Given the description of an element on the screen output the (x, y) to click on. 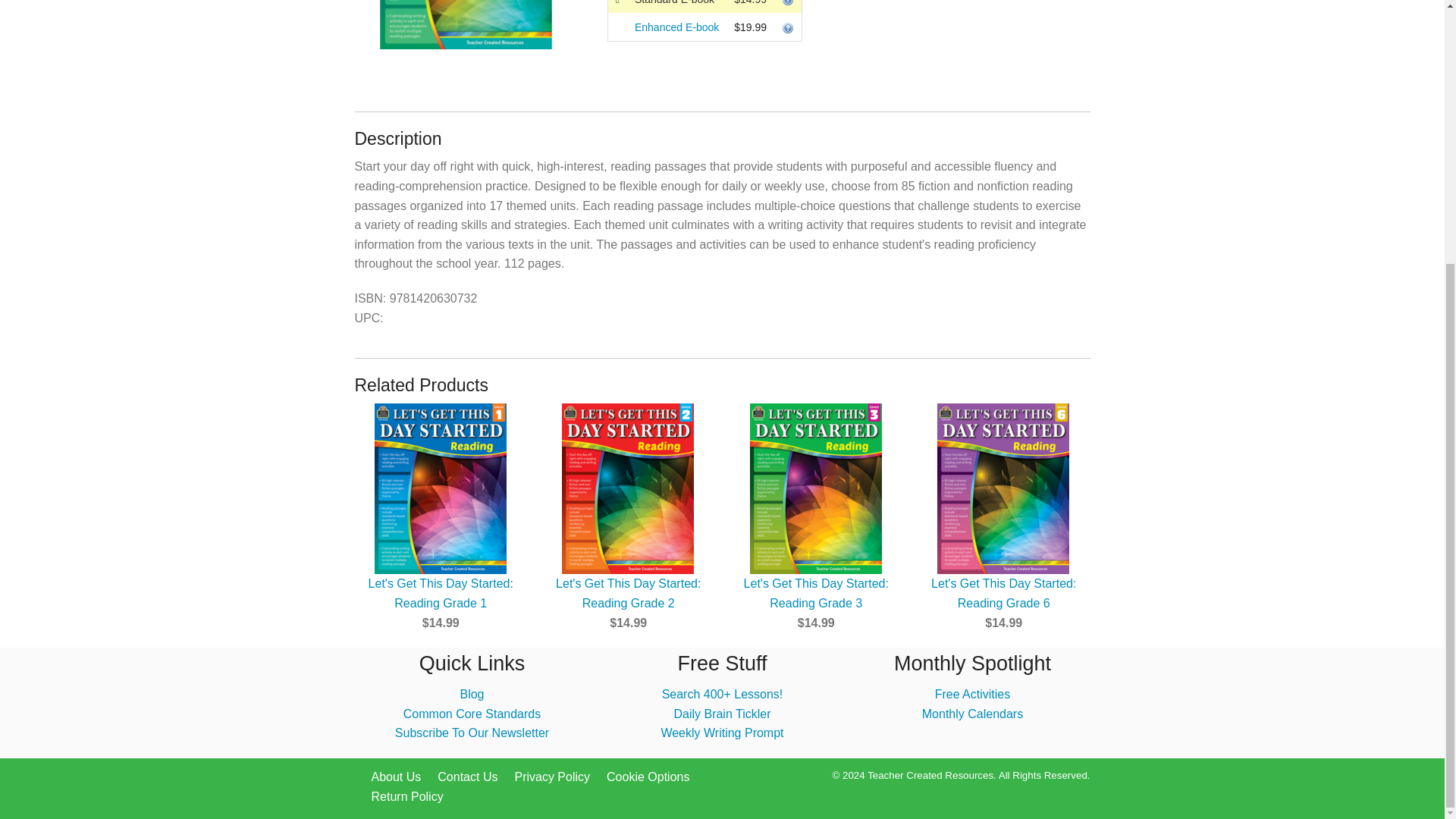
Let's Get This Day Started: Reading Grade 2 (628, 488)
Let's Get This Day Started: Reading Grade 1 (440, 593)
Return Policy (407, 796)
Blog (471, 694)
Let's Get This Day Started: Reading Grade 3 (815, 488)
Enhanced E-book (676, 27)
Privacy Policy (551, 777)
Cookie Options (647, 777)
Let's Get This Day Started: Reading Grade 6 (1003, 593)
Let's Get This Day Started: Reading Grade 2 (628, 593)
Let's Get This Day Started: Reading Grade 6 (1003, 488)
Let's Get This Day Started: Reading Grade 3 (816, 593)
Let's Get This Day Started: Reading Grade 1 (440, 488)
Company Info (396, 777)
